Given the description of an element on the screen output the (x, y) to click on. 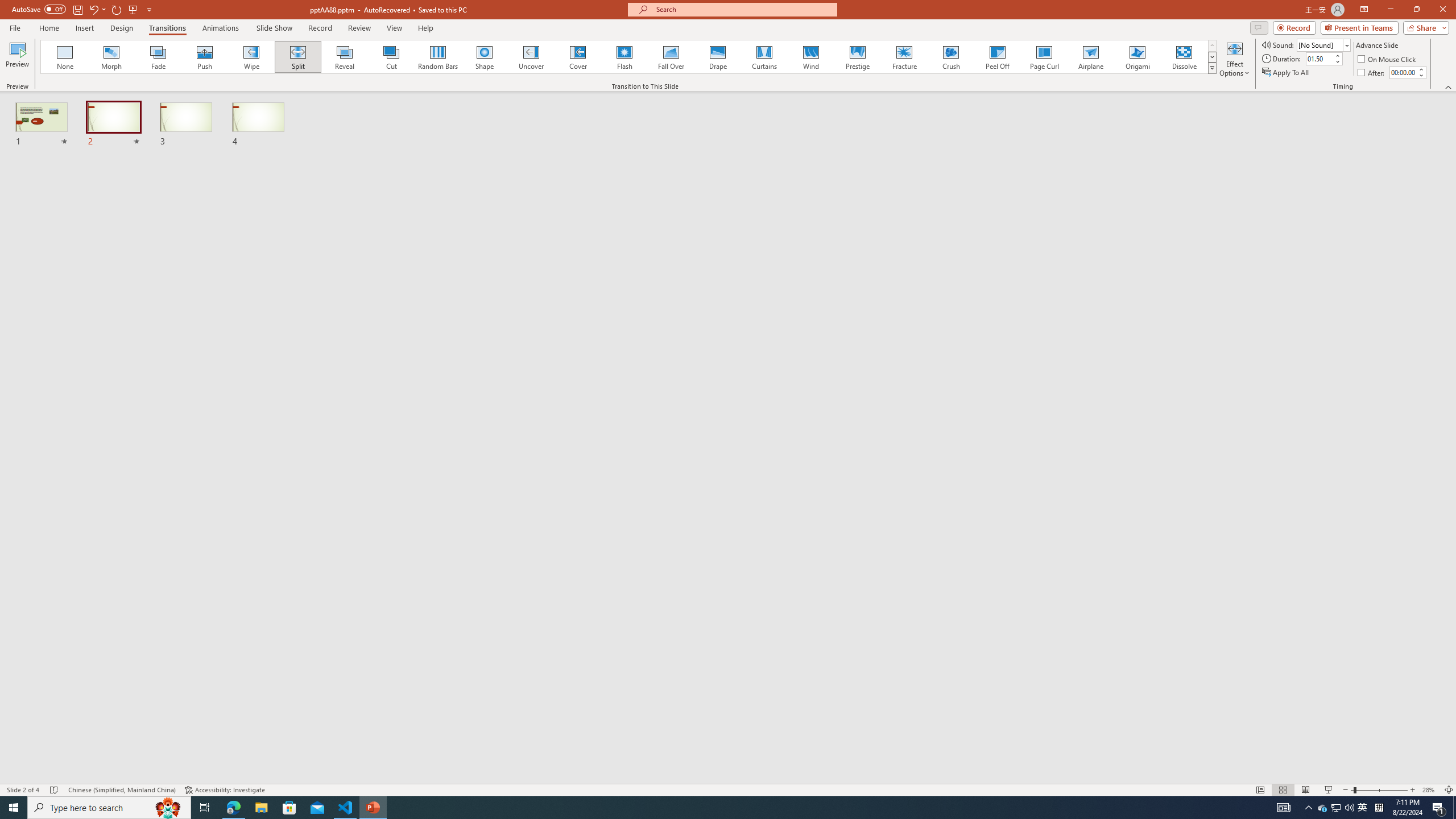
Peel Off (997, 56)
Transition Effects (1212, 67)
Drape (717, 56)
Reveal (344, 56)
